Given the description of an element on the screen output the (x, y) to click on. 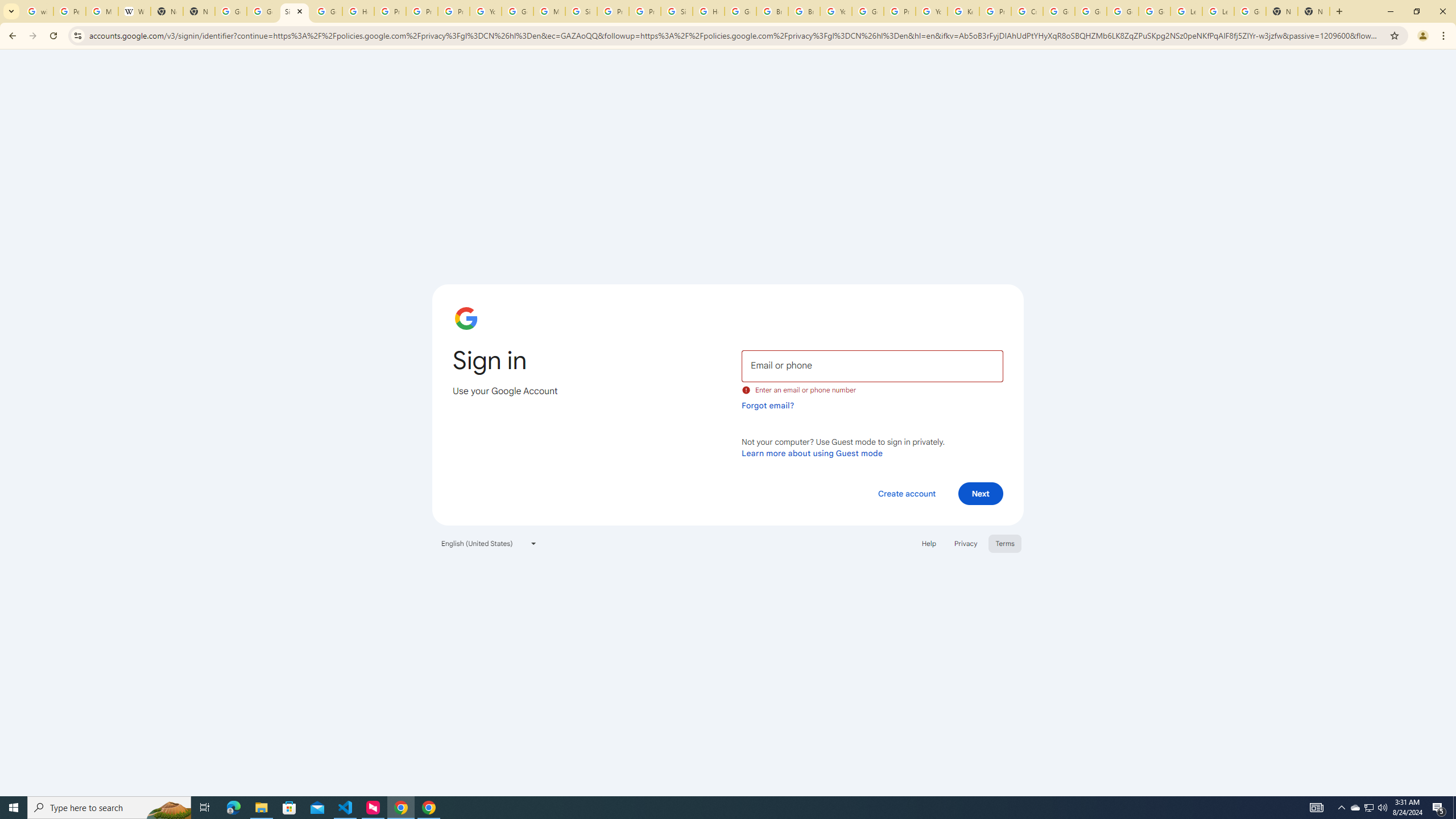
Create account (905, 493)
Privacy (965, 542)
Wikipedia:Edit requests - Wikipedia (134, 11)
YouTube (931, 11)
Learn more about using Guest mode (812, 452)
